Given the description of an element on the screen output the (x, y) to click on. 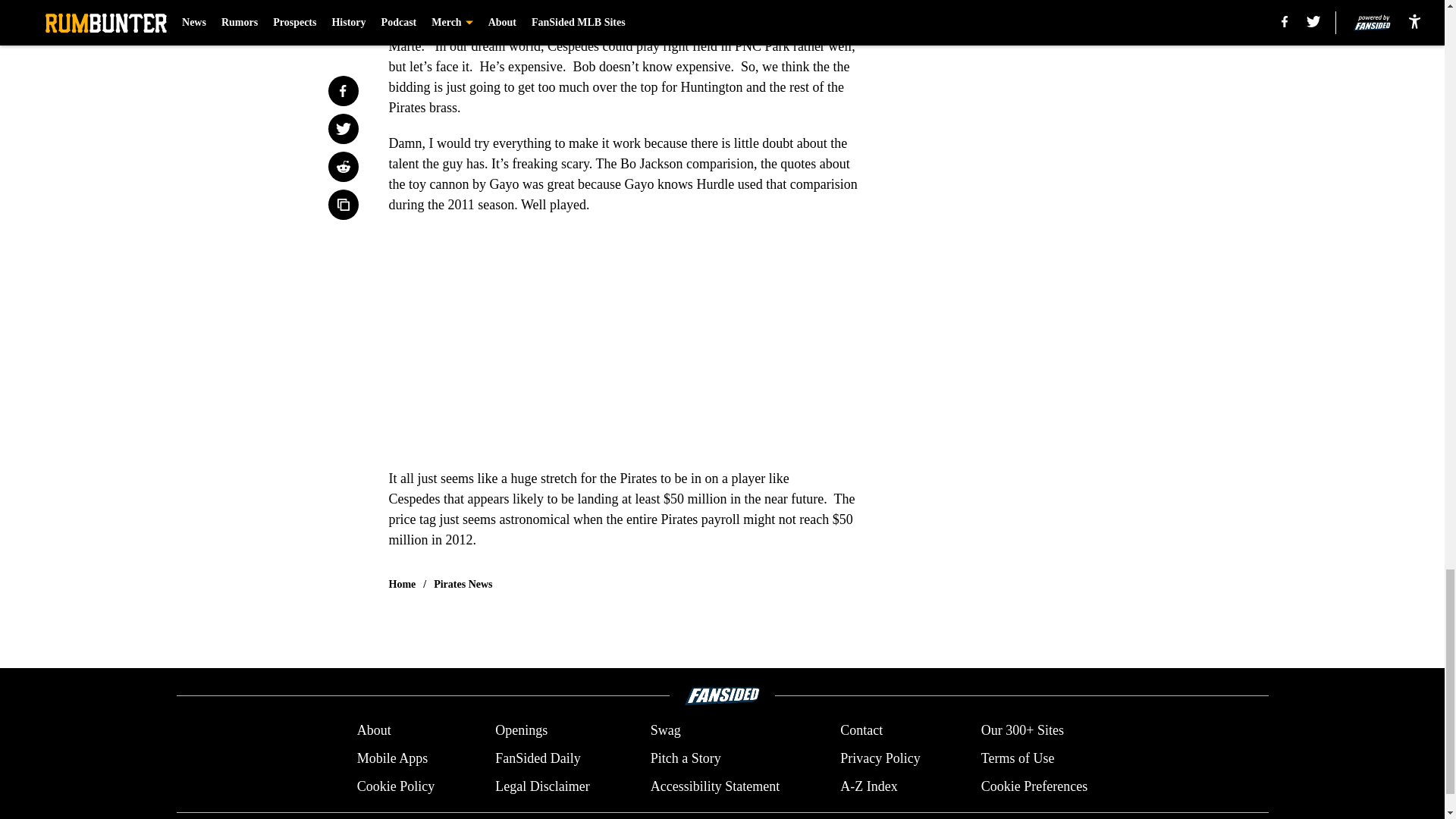
Cookie Policy (395, 786)
FanSided Daily (537, 758)
Pitch a Story (685, 758)
Mobile Apps (392, 758)
Pirates News (462, 584)
Terms of Use (1017, 758)
Swag (665, 730)
Accessibility Statement (714, 786)
Contact (861, 730)
Home (401, 584)
About (373, 730)
Openings (521, 730)
Legal Disclaimer (542, 786)
Privacy Policy (880, 758)
